Given the description of an element on the screen output the (x, y) to click on. 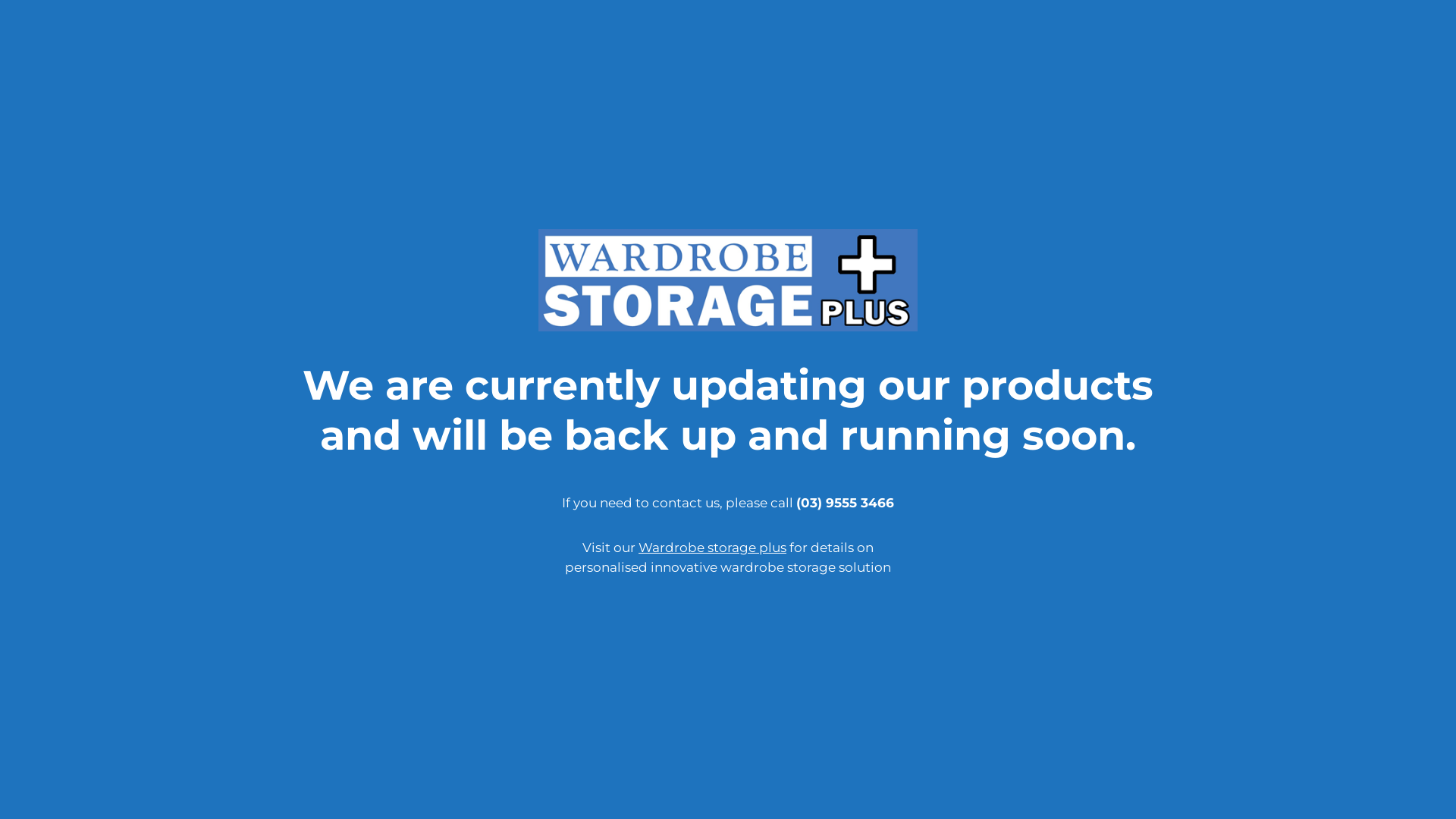
Wardrobe storage plus Element type: text (712, 547)
